Given the description of an element on the screen output the (x, y) to click on. 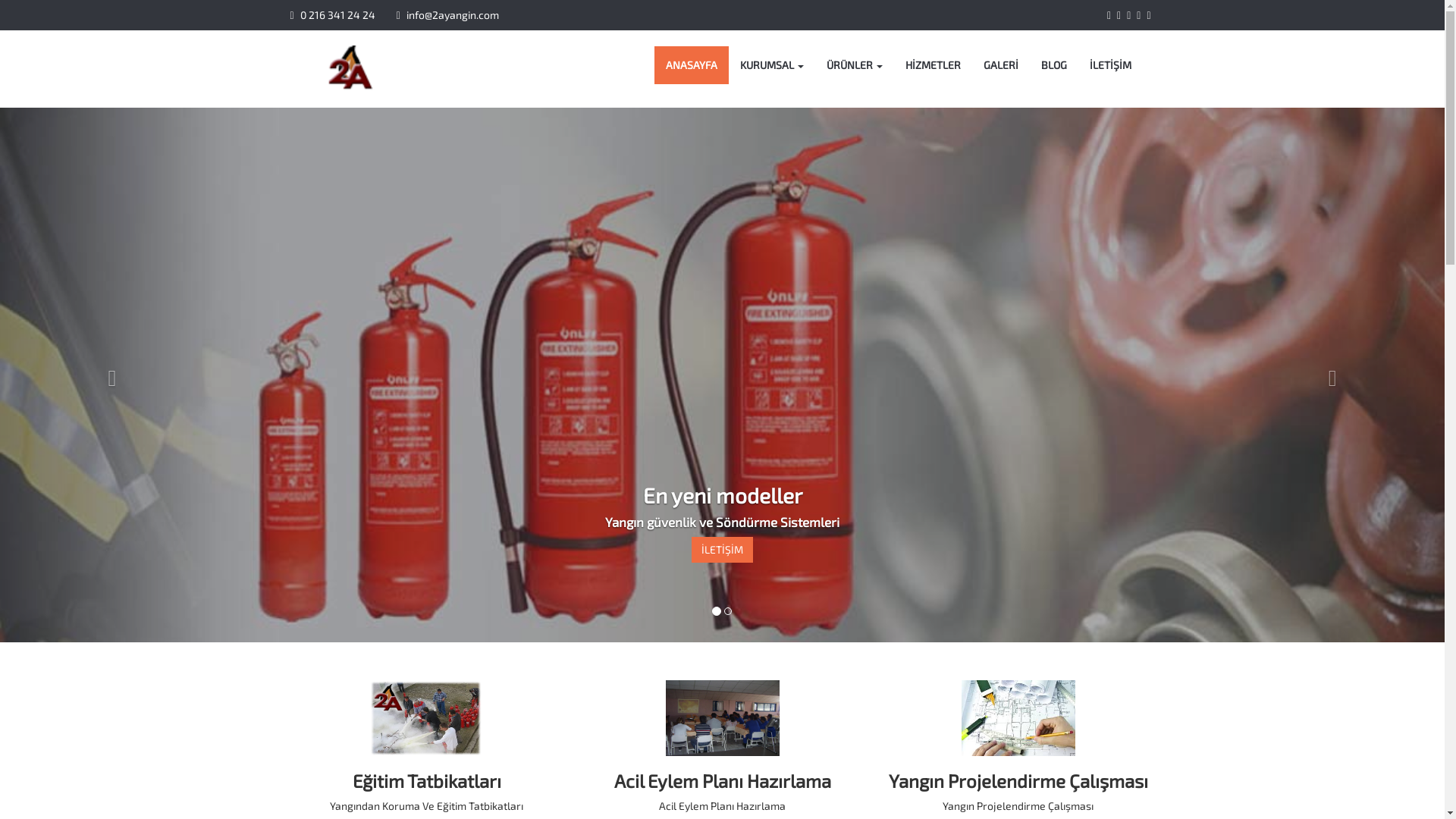
KURUMSAL Element type: text (771, 65)
Twitter Element type: hover (1118, 14)
BLOG Element type: text (1053, 65)
Youtube Element type: hover (1138, 14)
Previous Element type: text (108, 374)
Next Element type: text (1335, 374)
ANASAYFA Element type: text (690, 65)
0 216 341 24 24 Element type: text (331, 14)
Facebook Element type: hover (1108, 14)
info@2ayangin.com Element type: text (439, 14)
Linkedin Element type: hover (1148, 14)
